Given the description of an element on the screen output the (x, y) to click on. 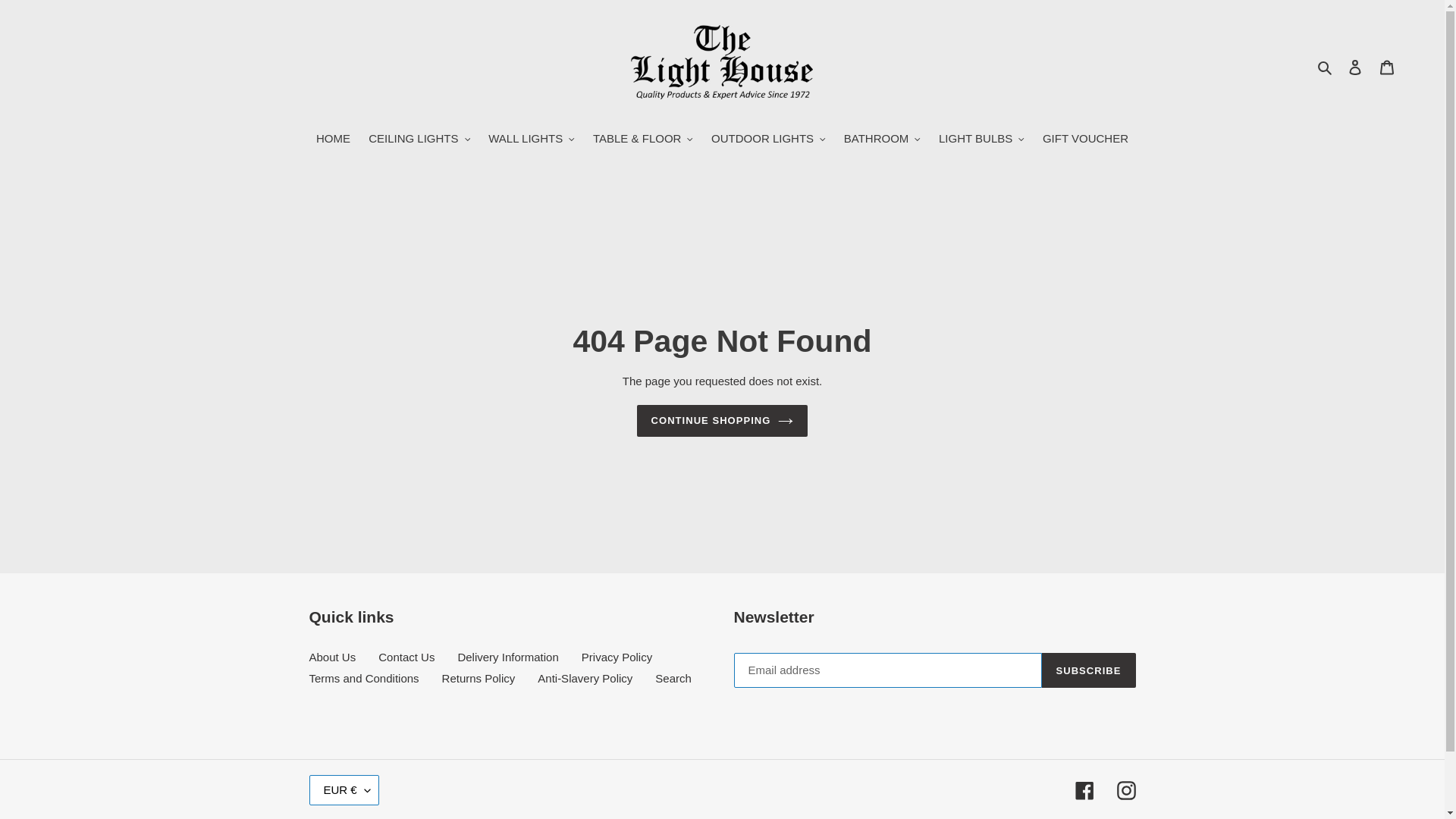
Search (1326, 66)
Log in (1355, 66)
Cart (1387, 66)
